Given the description of an element on the screen output the (x, y) to click on. 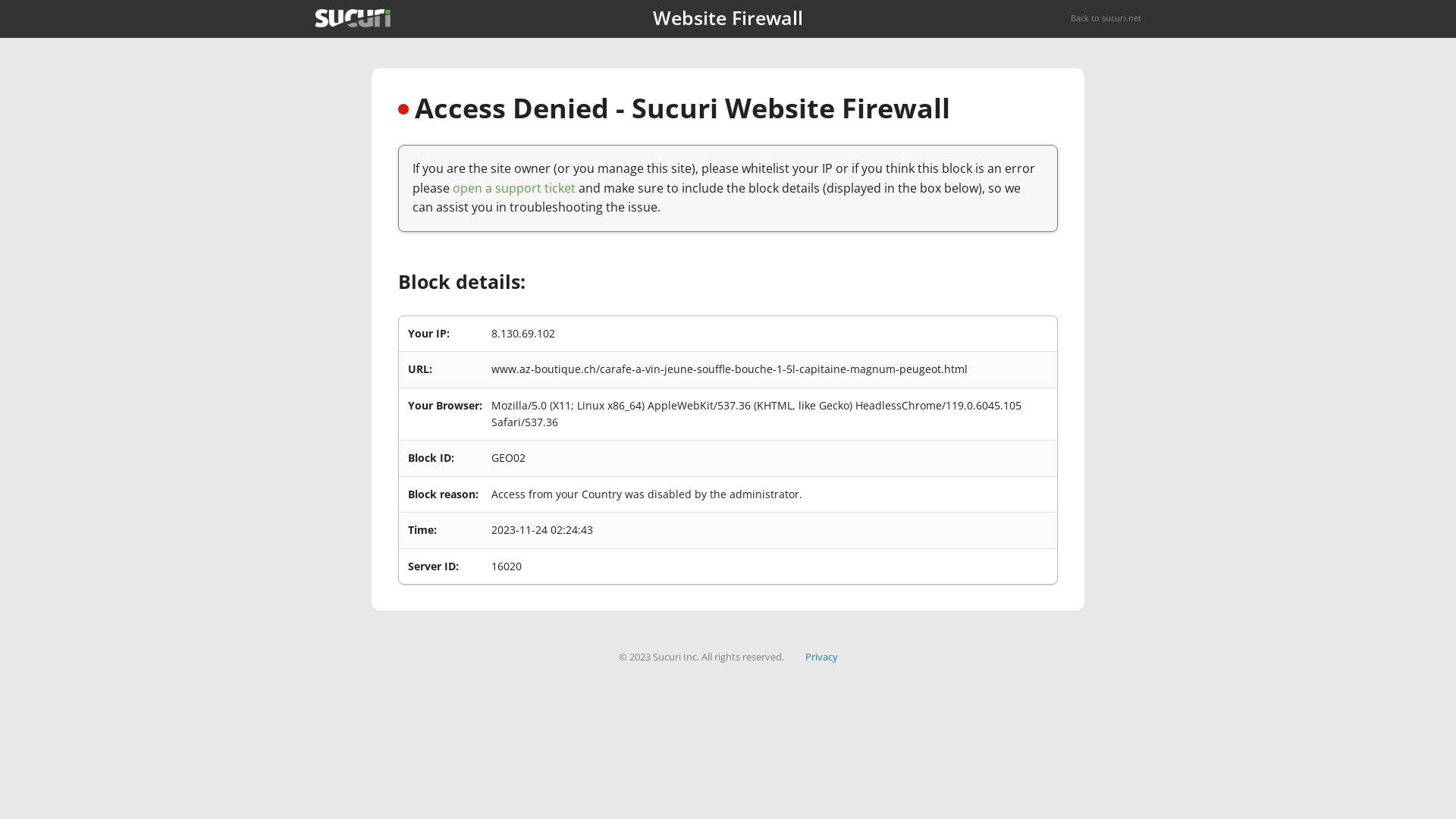
Back to sucuri.net Element type: text (1105, 18)
open a support ticket Element type: text (513, 187)
Privacy Element type: text (821, 656)
